Given the description of an element on the screen output the (x, y) to click on. 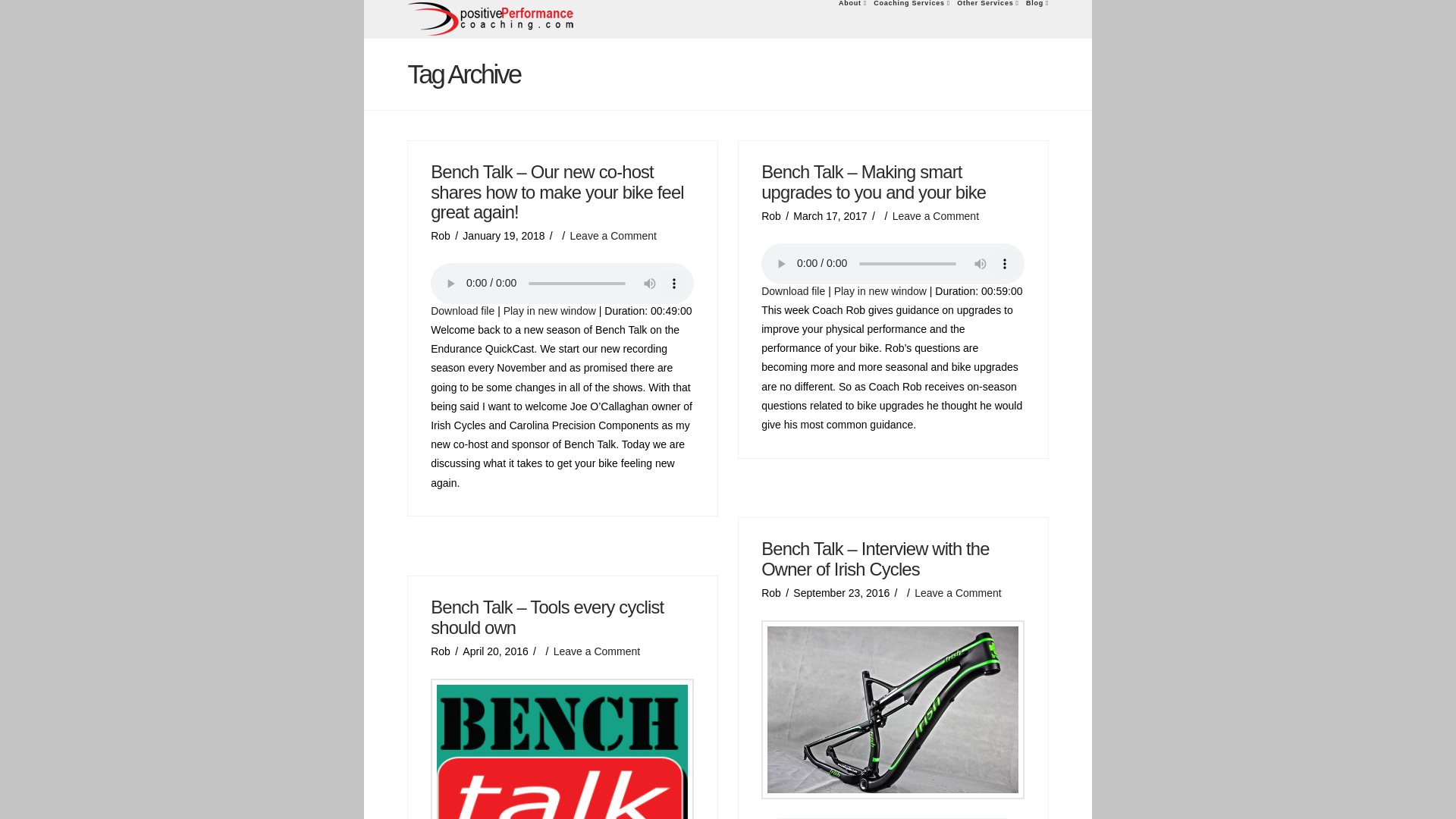
Blog (1035, 18)
About (851, 18)
Coaching Services (911, 18)
Other Services (987, 18)
Coaching Services (911, 18)
